Given the description of an element on the screen output the (x, y) to click on. 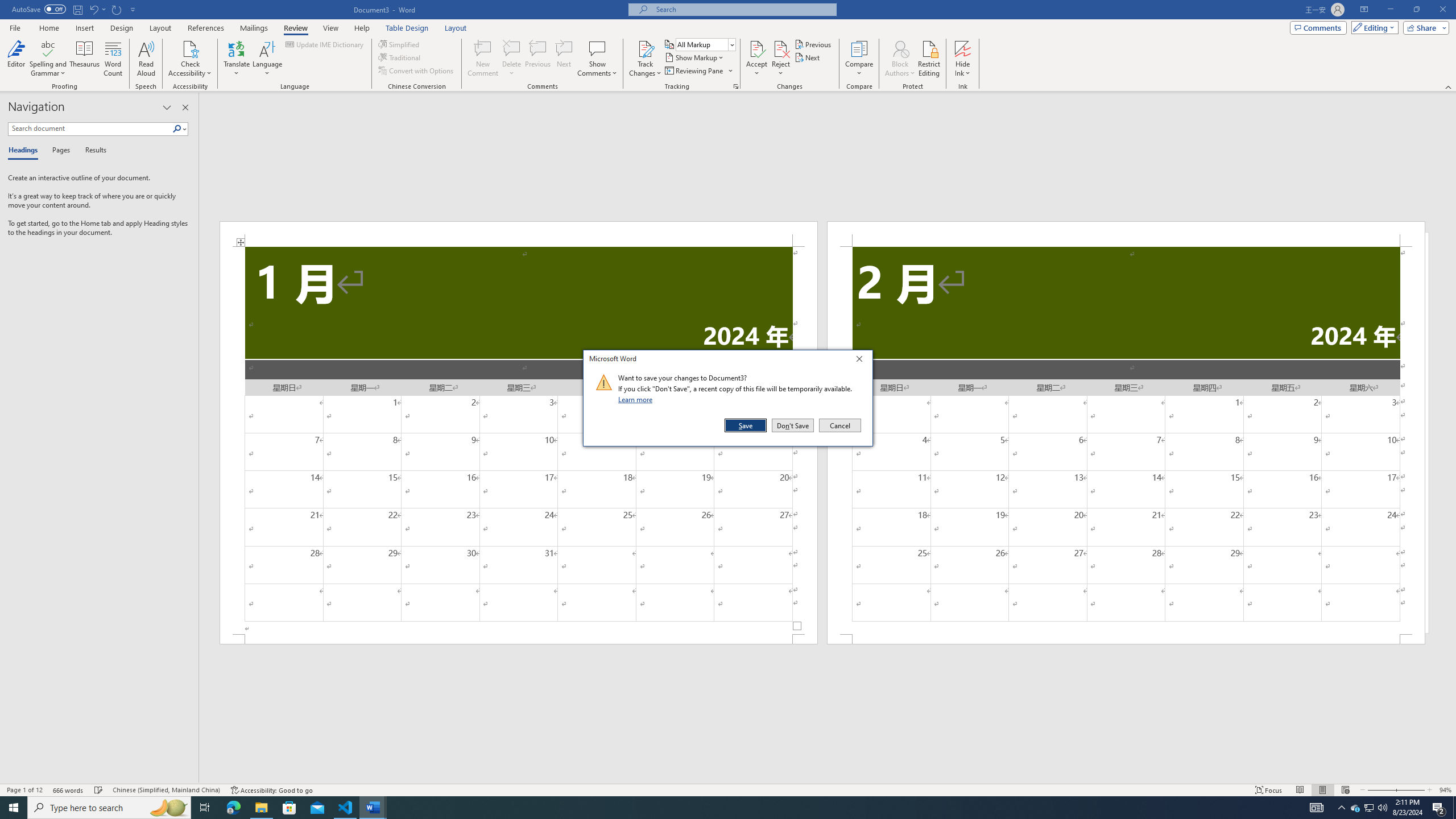
Delete (511, 58)
Delete (511, 48)
Page Number Page 1 of 12 (24, 790)
Restrict Editing (929, 58)
File Explorer - 1 running window (261, 807)
Repeat Doc Close (117, 9)
Simplified (400, 44)
